Given the description of an element on the screen output the (x, y) to click on. 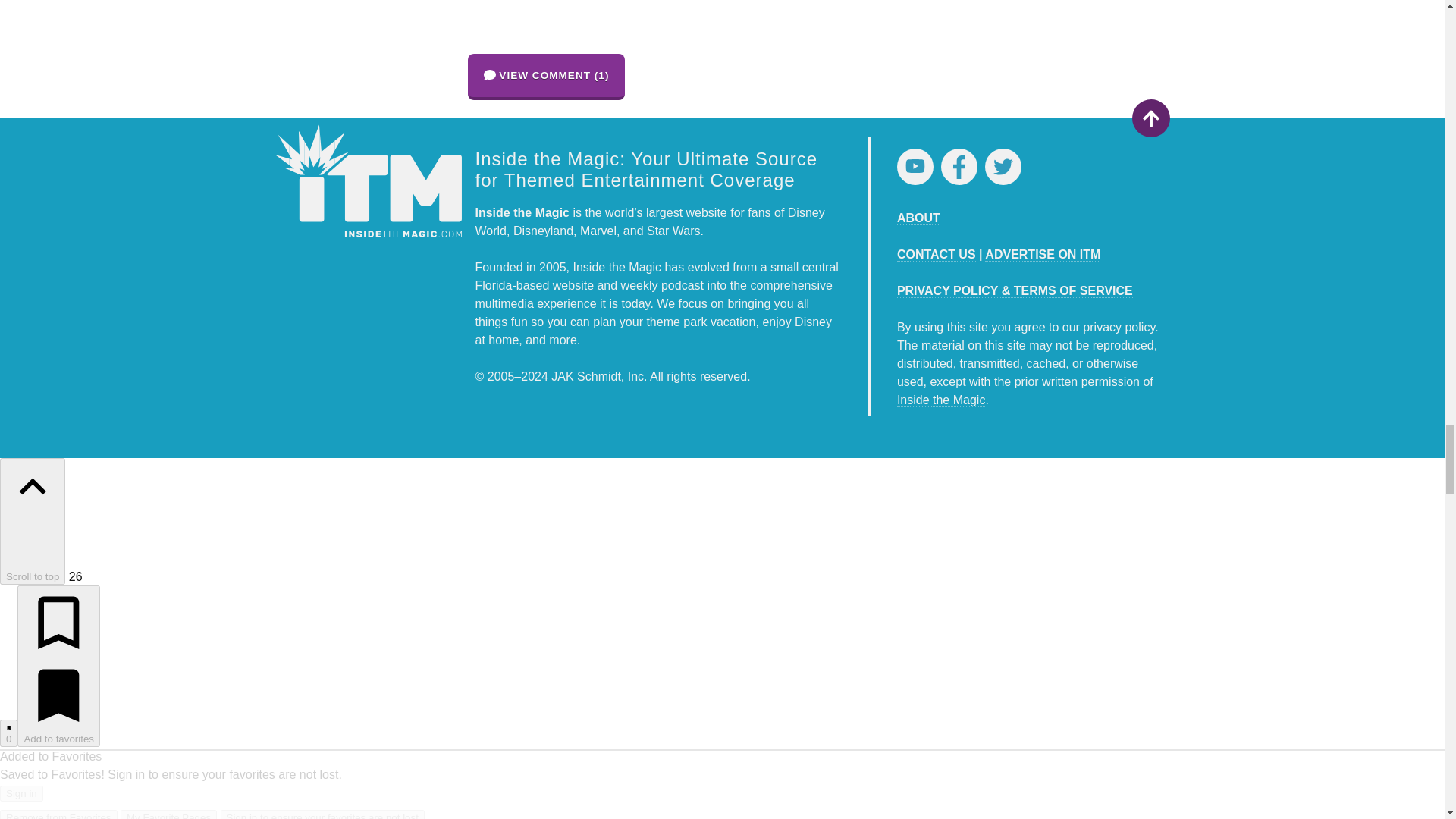
Return to Top (1150, 118)
